Given the description of an element on the screen output the (x, y) to click on. 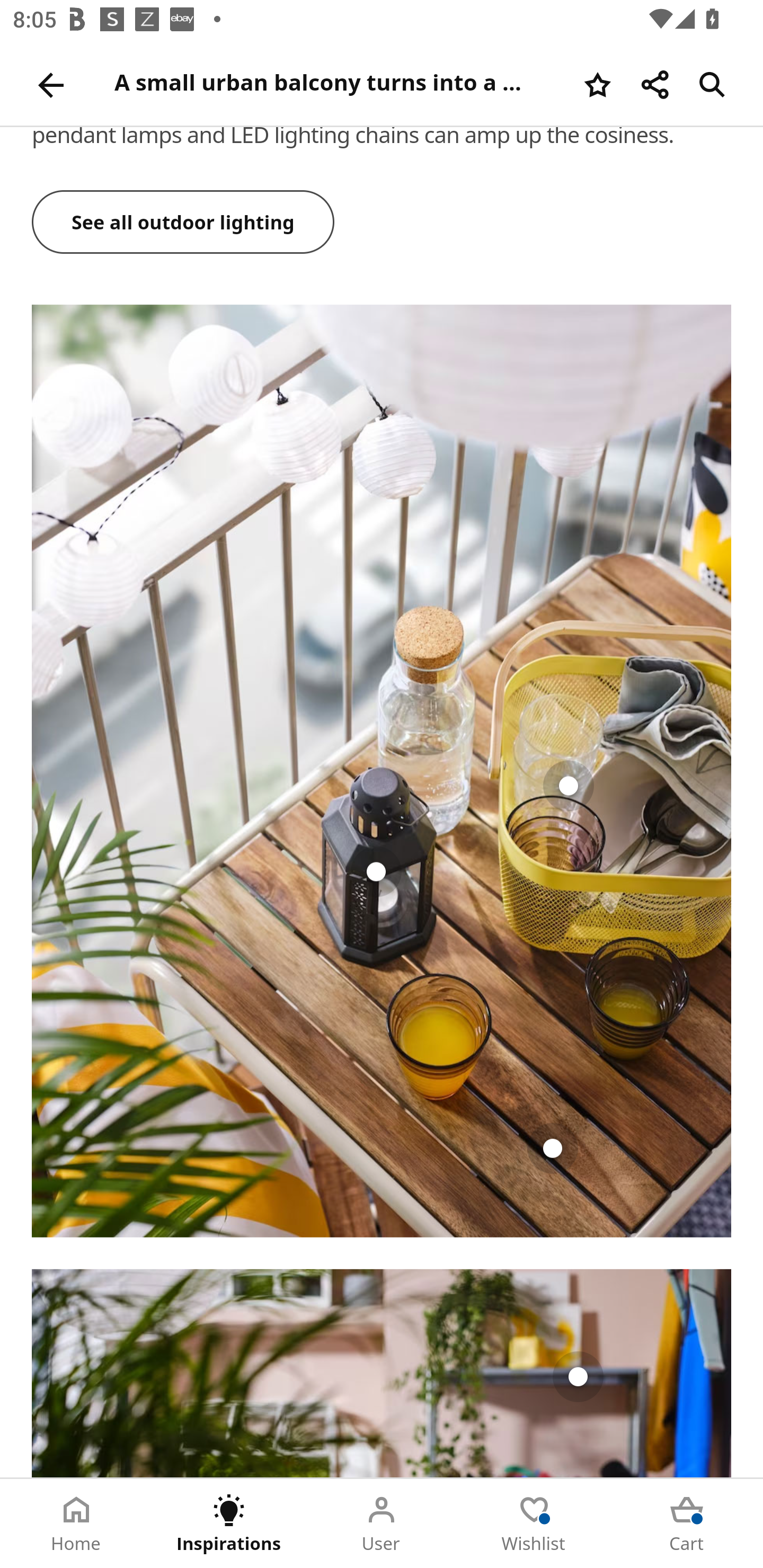
See all outdoor lighting (183, 223)
Home
Tab 1 of 5 (76, 1522)
Inspirations
Tab 2 of 5 (228, 1522)
User
Tab 3 of 5 (381, 1522)
Wishlist
Tab 4 of 5 (533, 1522)
Cart
Tab 5 of 5 (686, 1522)
